Given the description of an element on the screen output the (x, y) to click on. 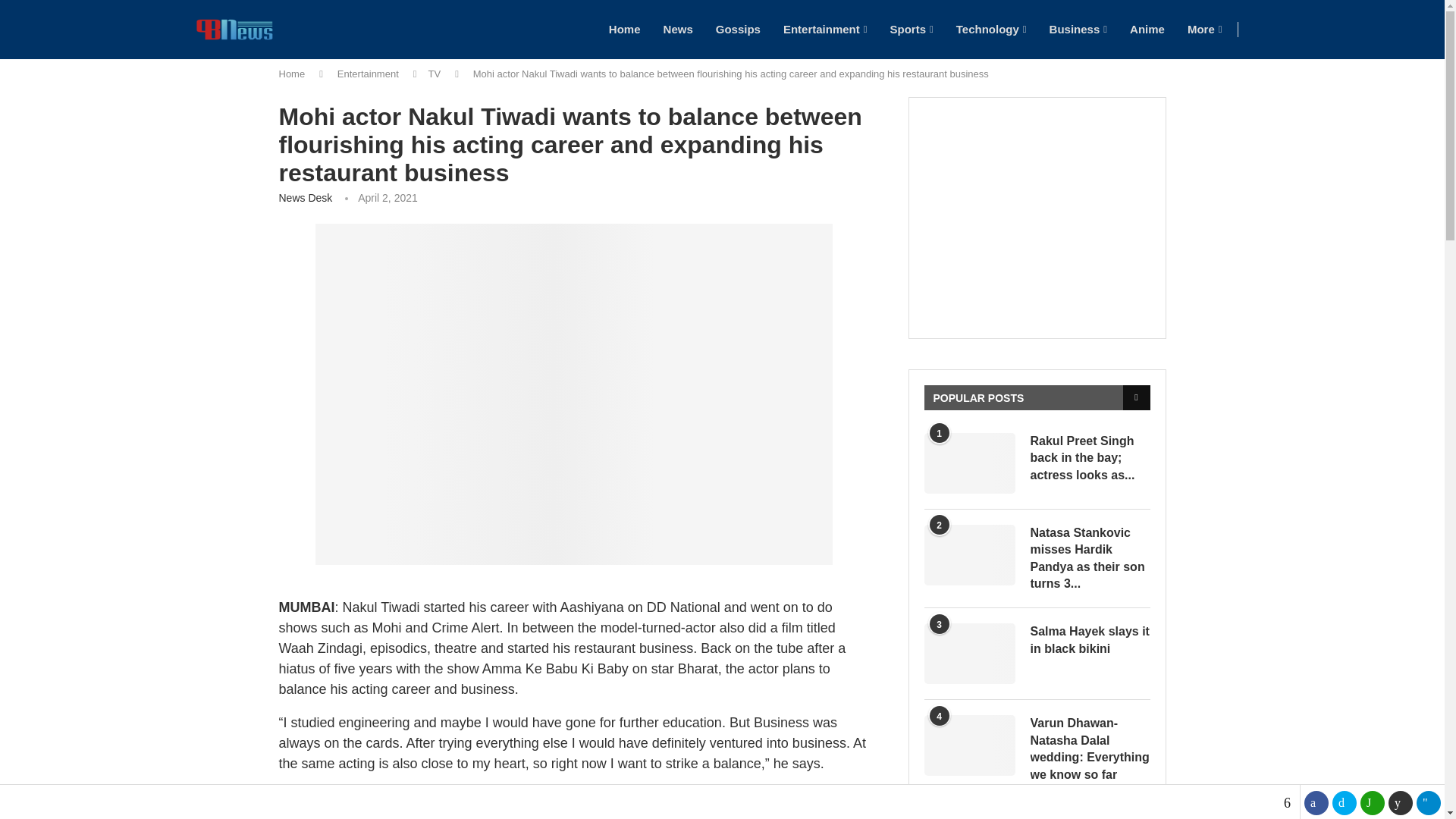
Gossips (738, 29)
Sports (911, 29)
Entertainment (825, 29)
